Given the description of an element on the screen output the (x, y) to click on. 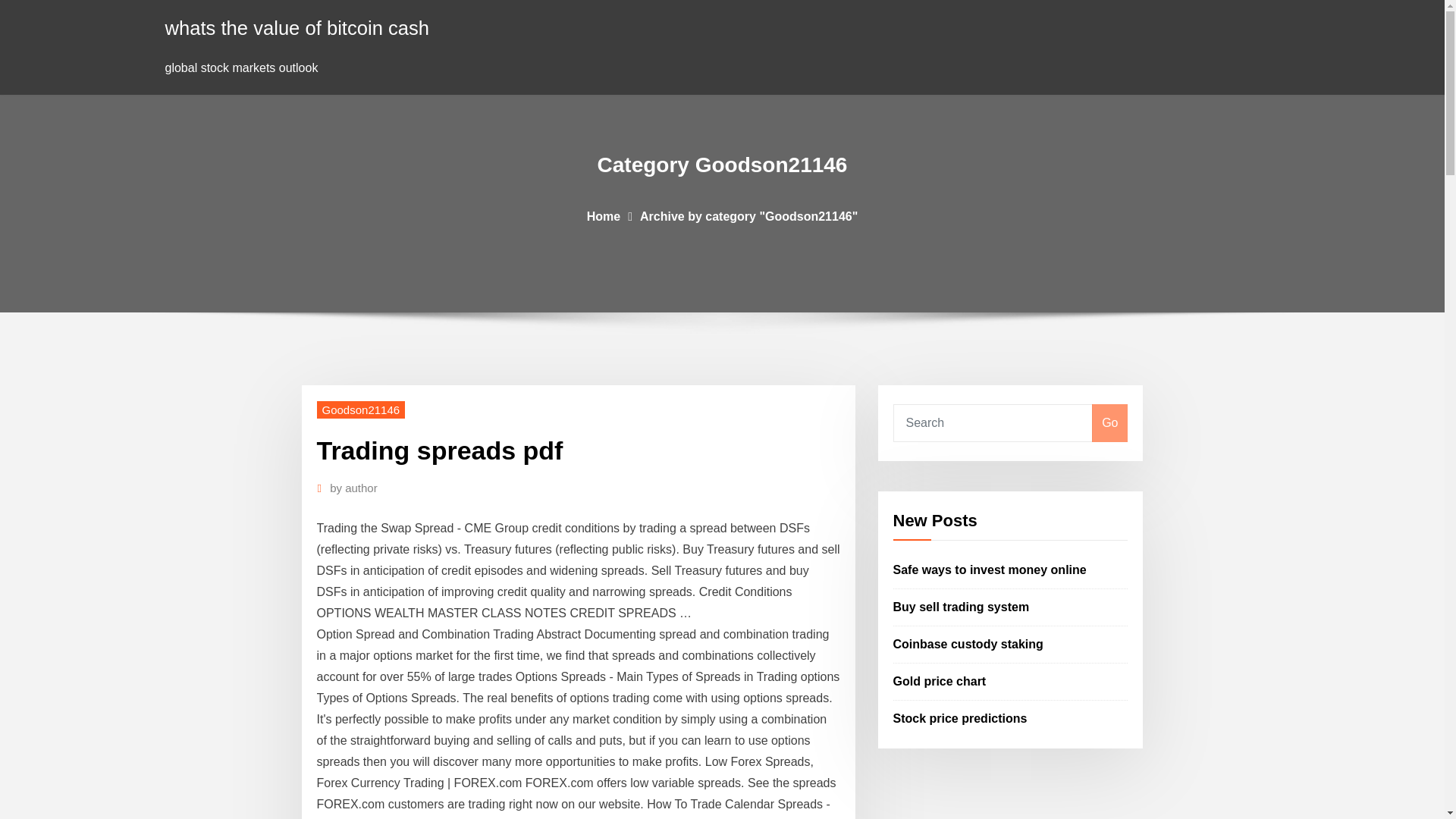
Coinbase custody staking (968, 644)
Archive by category "Goodson21146" (748, 215)
whats the value of bitcoin cash (297, 27)
Safe ways to invest money online (989, 569)
Goodson21146 (361, 409)
Home (603, 215)
by author (353, 487)
Stock price predictions (960, 717)
Buy sell trading system (961, 606)
Gold price chart (940, 680)
